Given the description of an element on the screen output the (x, y) to click on. 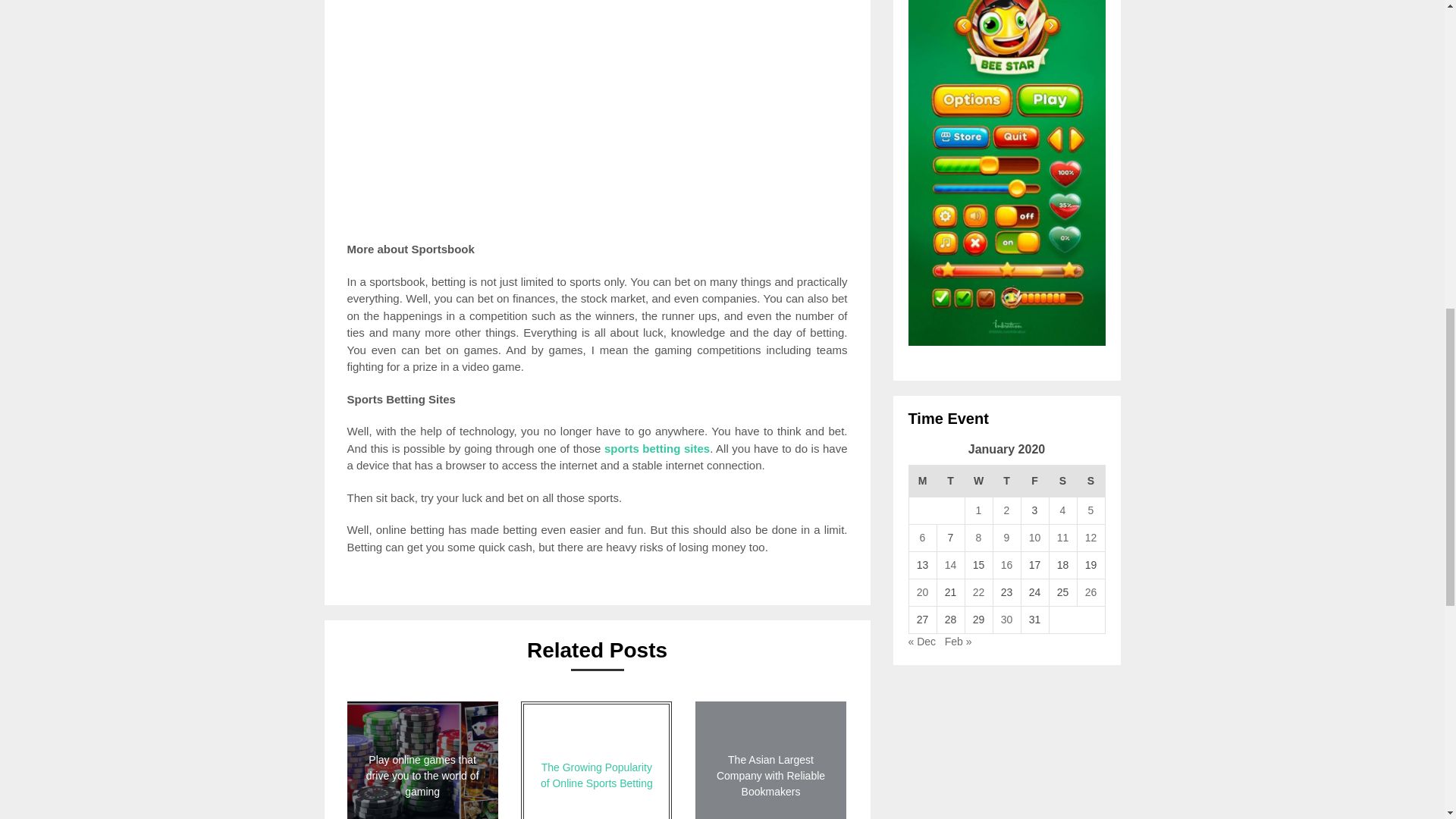
11 (1062, 537)
12 (1090, 537)
22 (978, 592)
14 (950, 564)
20 (922, 592)
16 (1007, 564)
10 (1035, 537)
The Growing Popularity of Online Sports Betting (596, 760)
30 (1007, 619)
sports betting sites (657, 447)
